Given the description of an element on the screen output the (x, y) to click on. 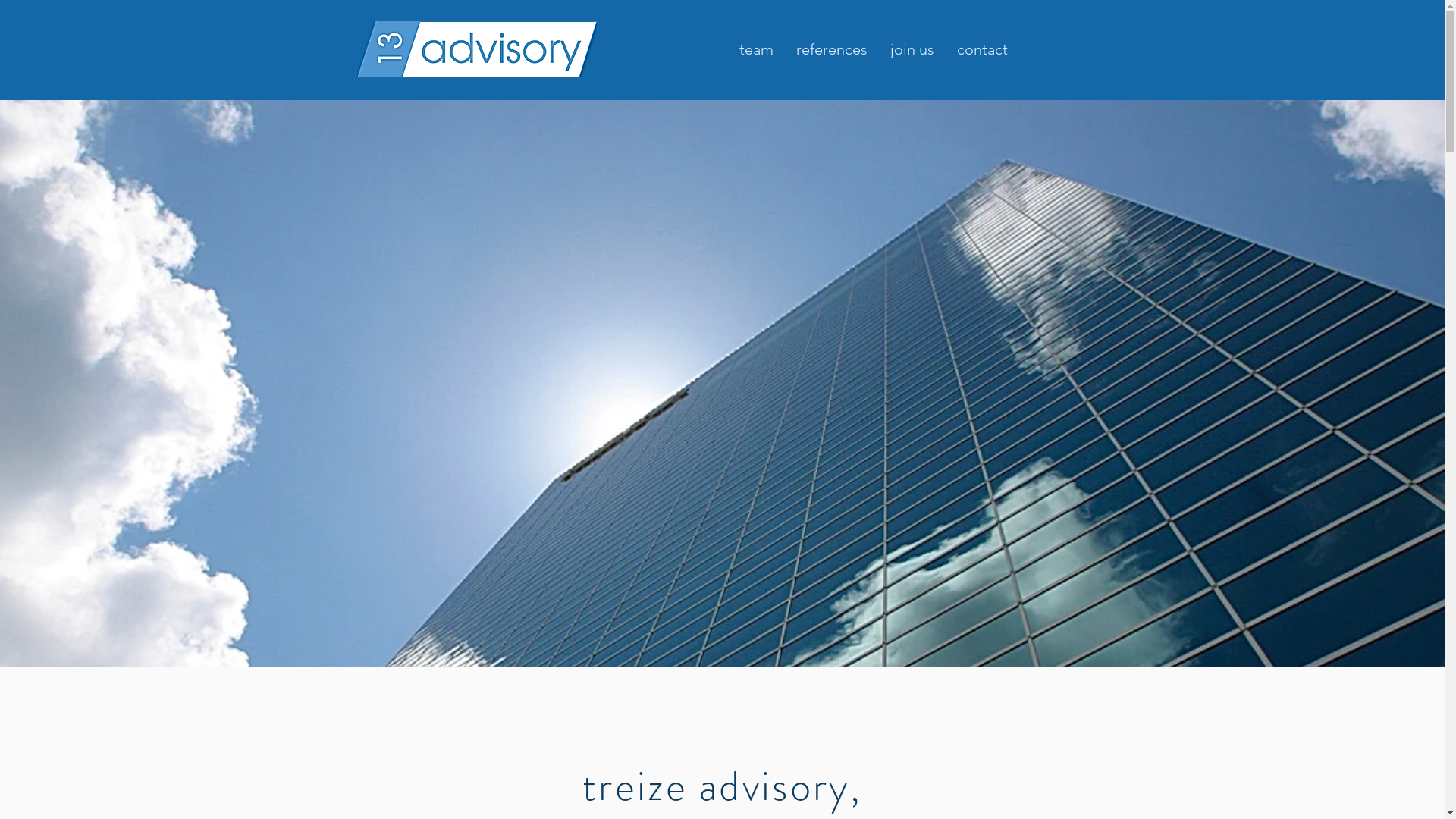
contact Element type: text (981, 49)
references Element type: text (831, 49)
home Element type: hover (476, 49)
join us Element type: text (911, 49)
team Element type: text (756, 49)
